Given the description of an element on the screen output the (x, y) to click on. 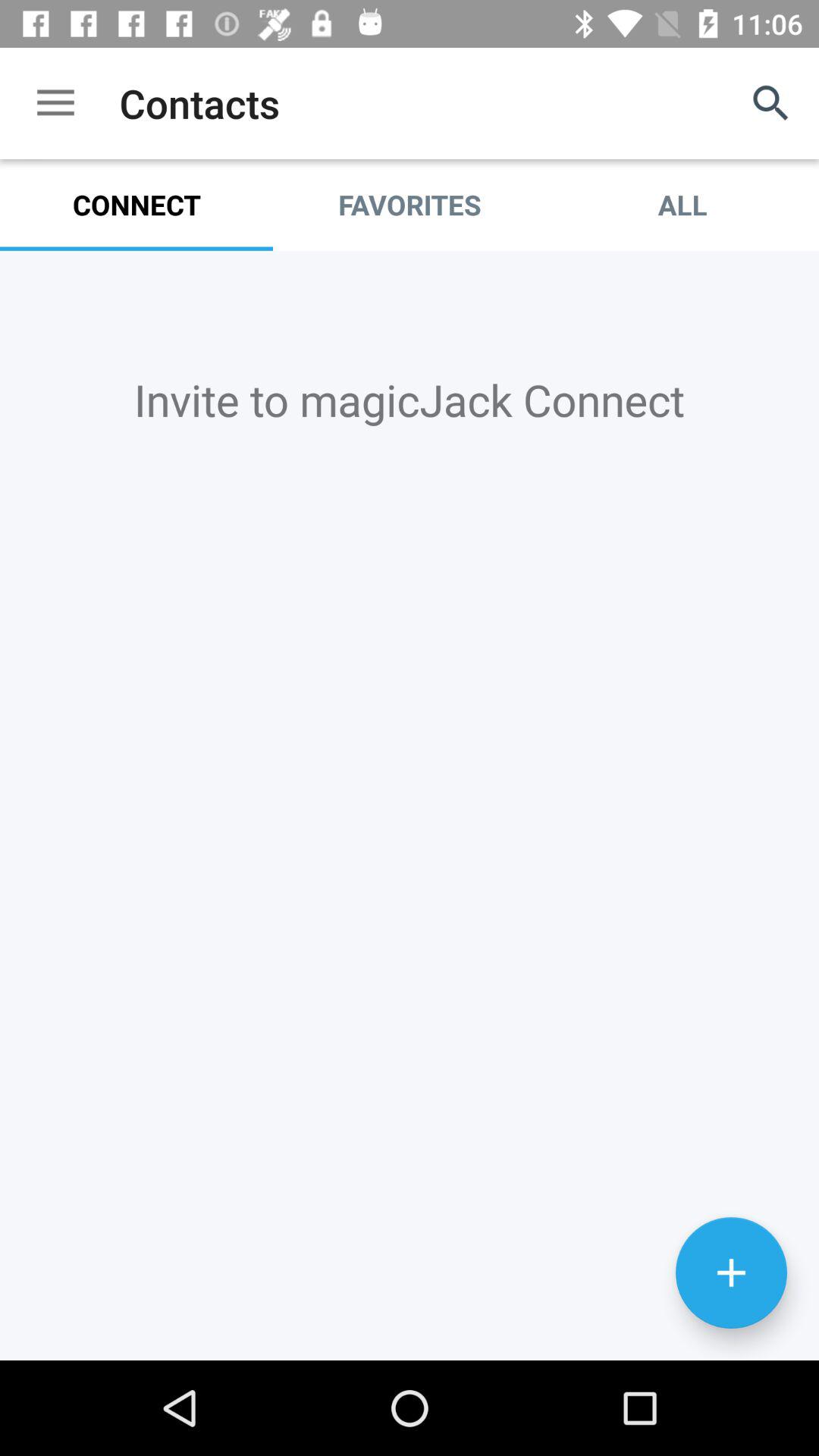
select the icon next to all item (409, 204)
